Given the description of an element on the screen output the (x, y) to click on. 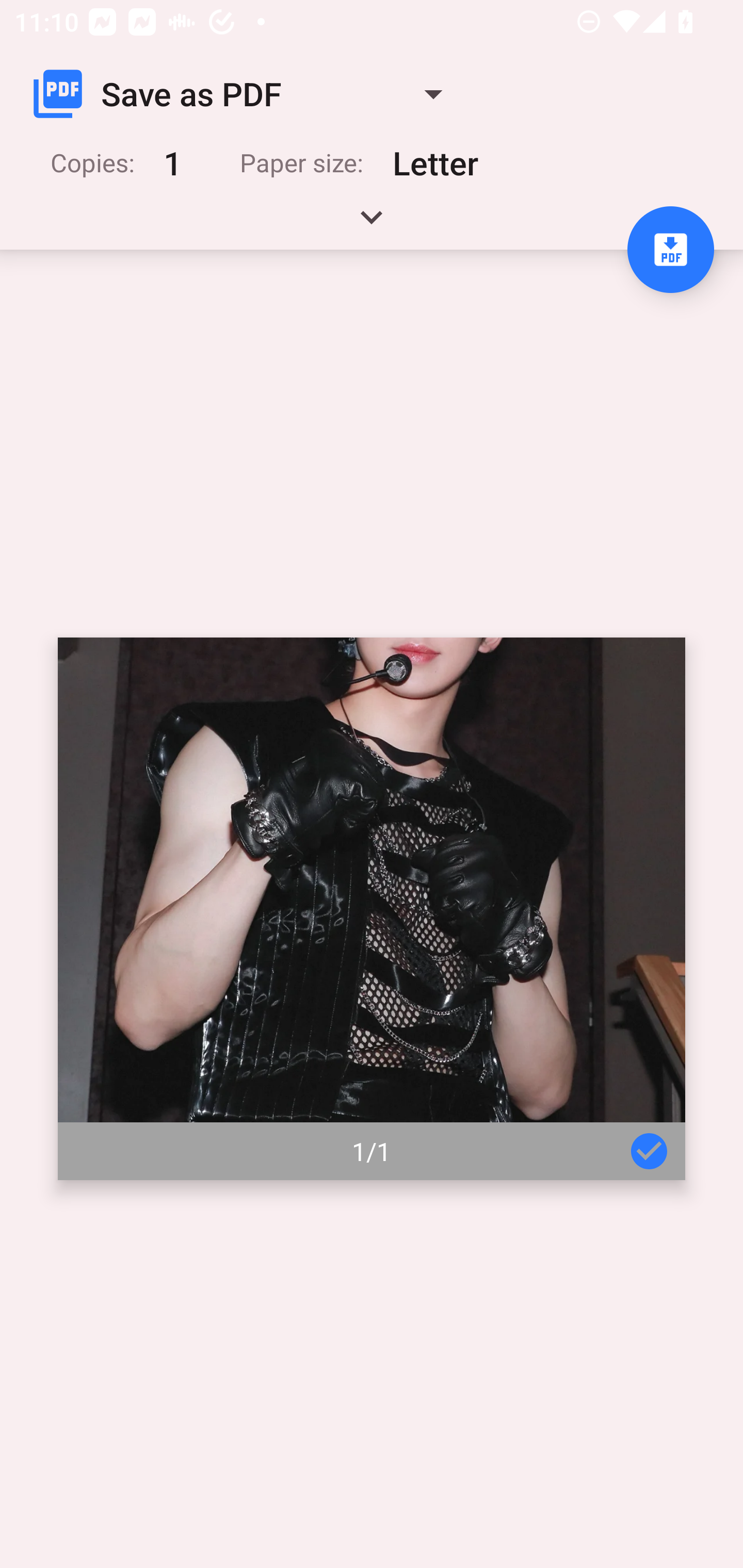
Save as PDF (245, 93)
Expand handle (371, 224)
Save to PDF (670, 249)
Page 1 of 1 1/1 (371, 909)
